Given the description of an element on the screen output the (x, y) to click on. 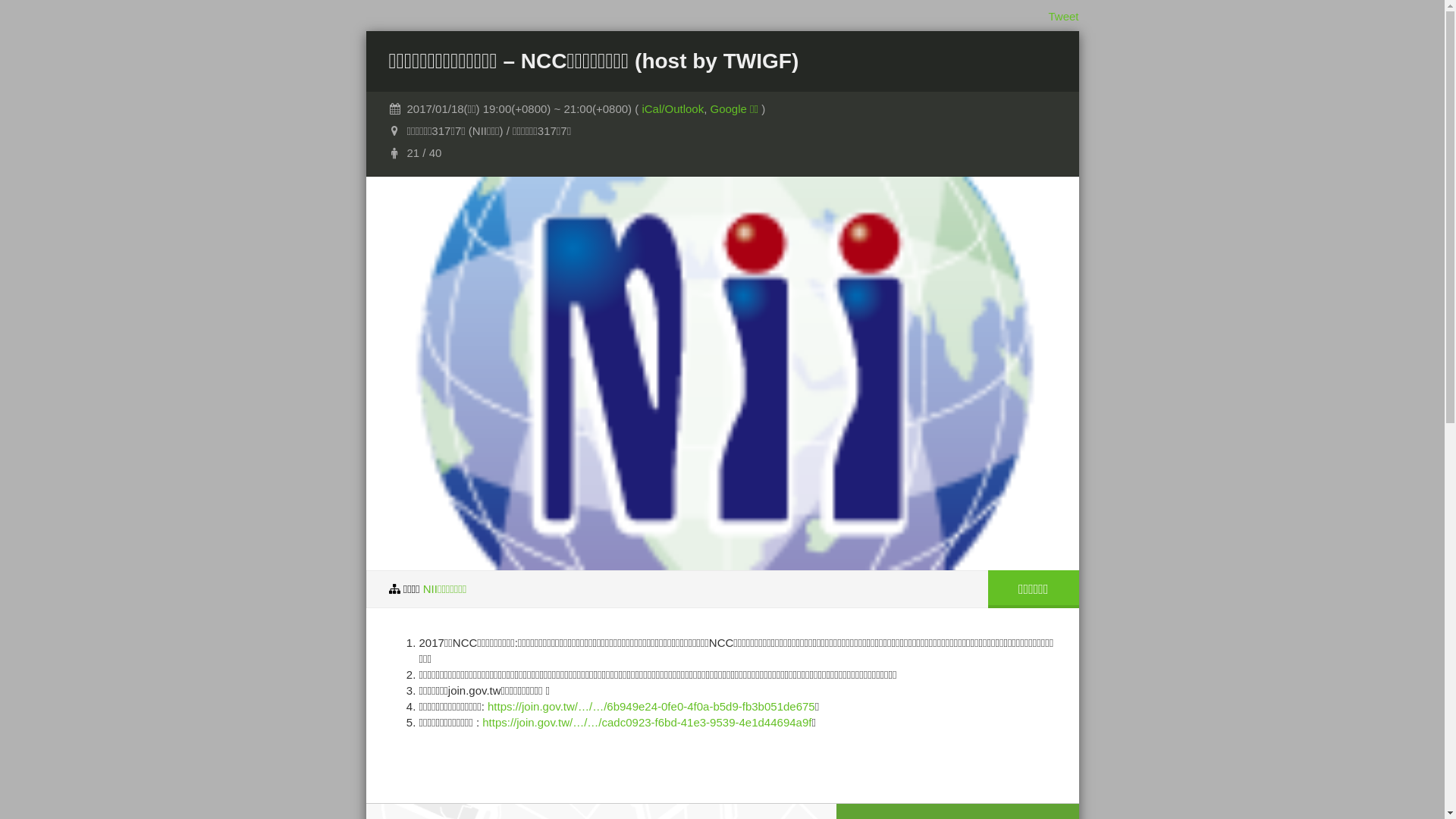
Tweet Element type: text (1063, 15)
iCal/Outlook Element type: text (672, 108)
